Given the description of an element on the screen output the (x, y) to click on. 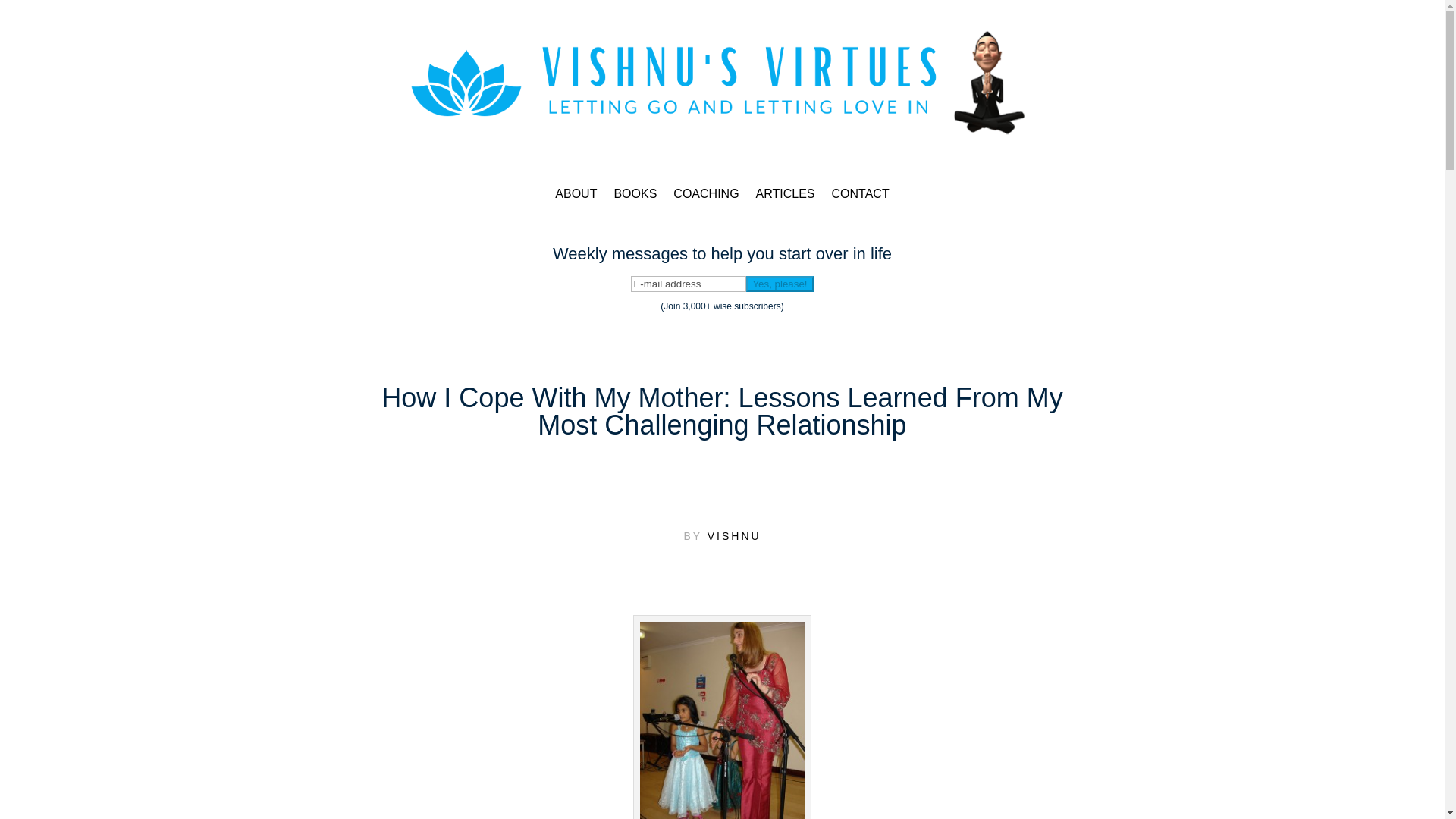
CONTACT (860, 193)
E-mail address (687, 283)
ARTICLES (785, 193)
Yes, please! (778, 283)
COACHING (705, 193)
Yes, please! (778, 283)
